Given the description of an element on the screen output the (x, y) to click on. 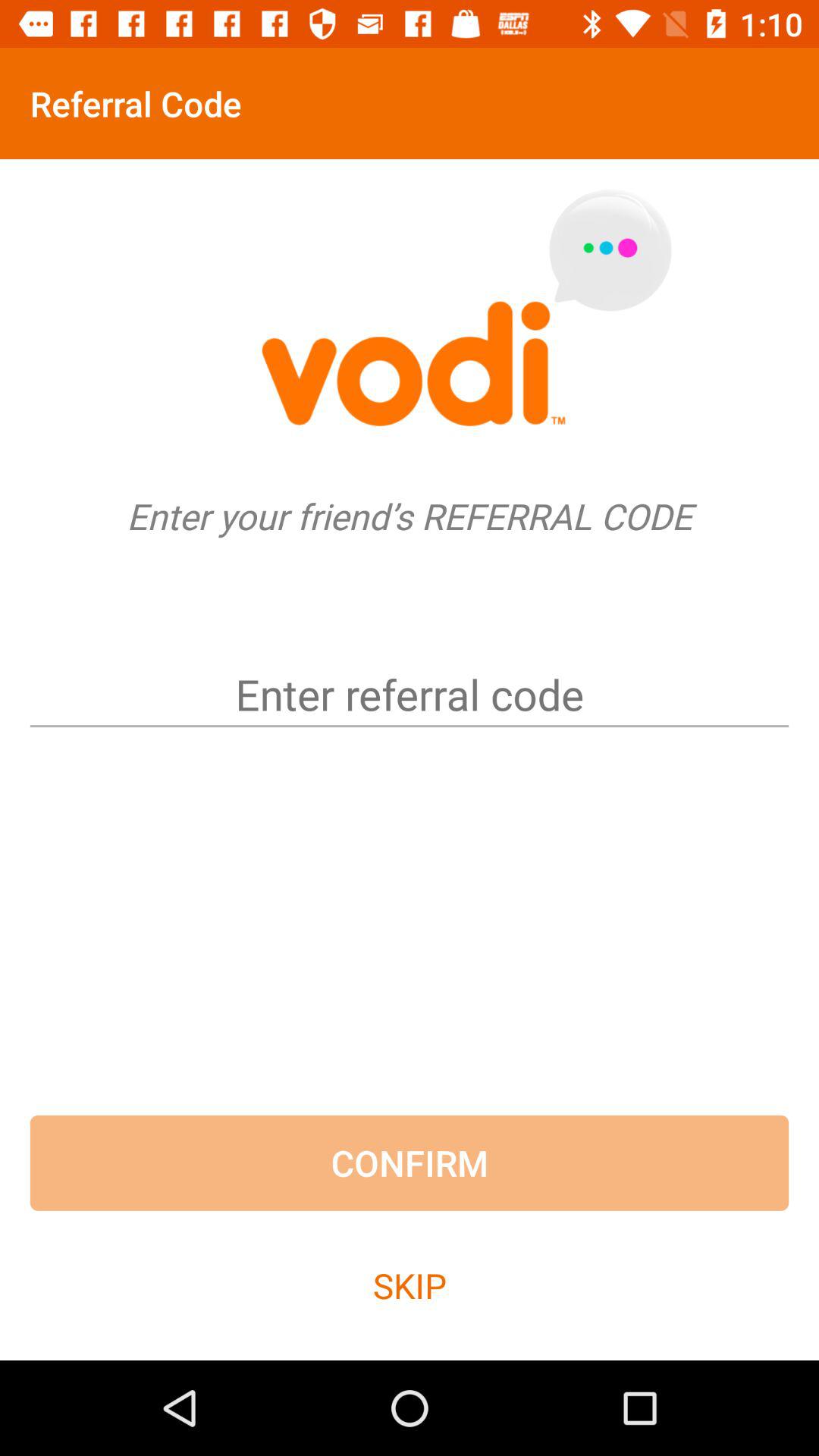
choose icon below the confirm (409, 1285)
